Given the description of an element on the screen output the (x, y) to click on. 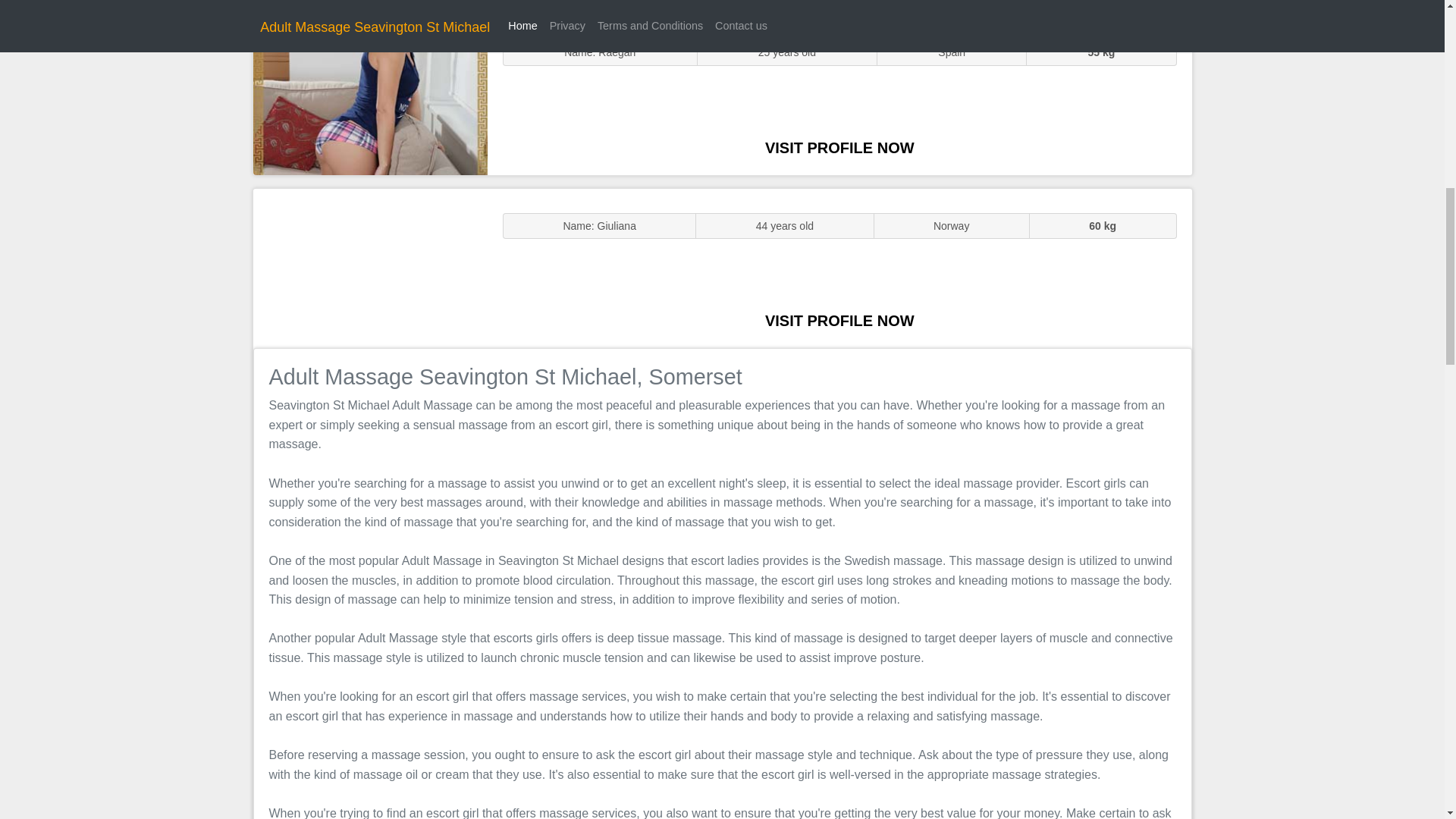
Massage (370, 267)
VISIT PROFILE NOW (839, 320)
VISIT PROFILE NOW (839, 147)
Sluts (370, 94)
